Given the description of an element on the screen output the (x, y) to click on. 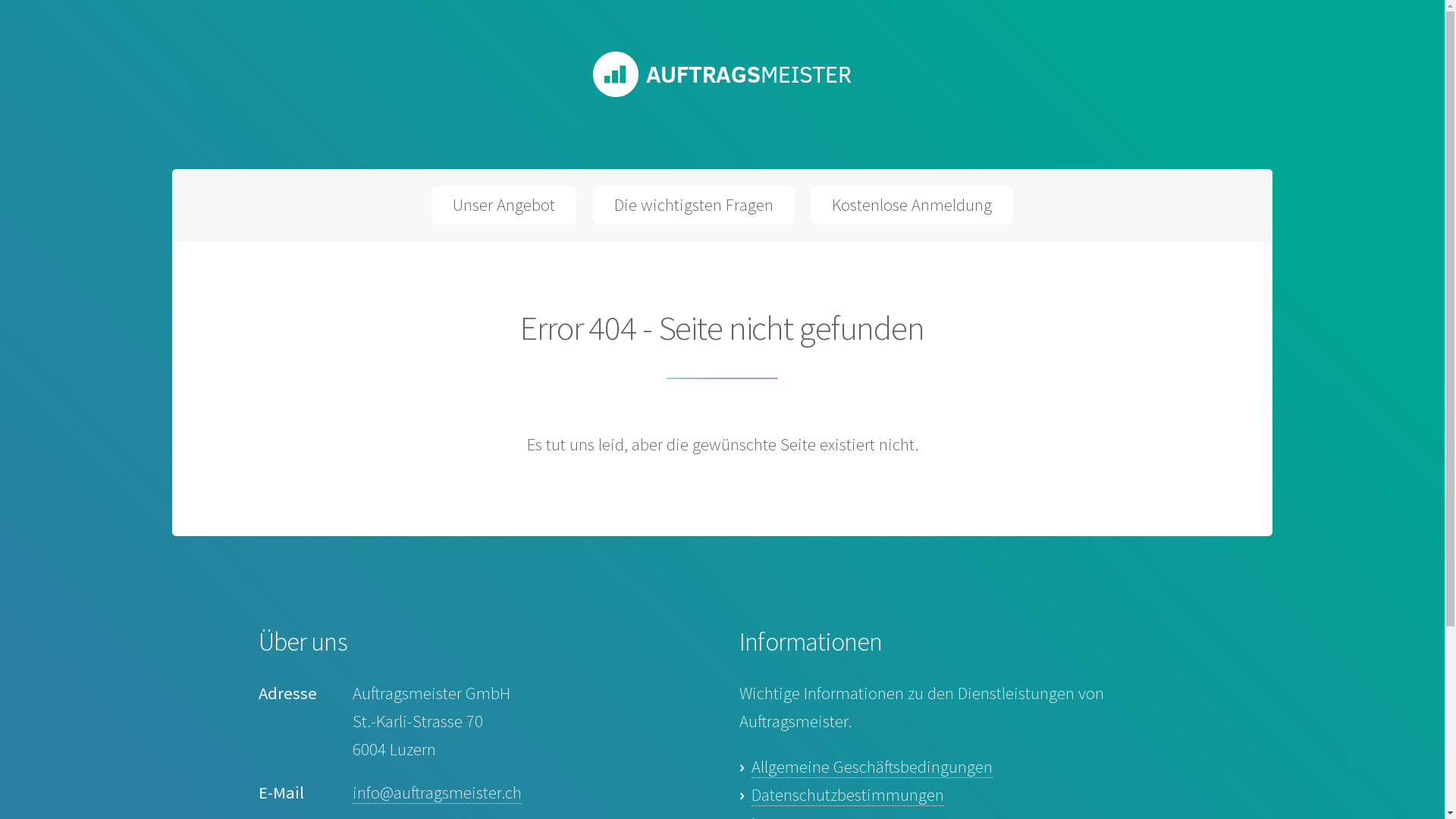
Unser Angebot Element type: text (504, 204)
AUFTRAGSMEISTER Element type: text (722, 92)
Datenschutzbestimmungen Element type: text (847, 795)
Kostenlose Anmeldung Element type: text (911, 204)
Die wichtigsten Fragen Element type: text (693, 204)
info@auftragsmeister.ch Element type: text (436, 792)
